Given the description of an element on the screen output the (x, y) to click on. 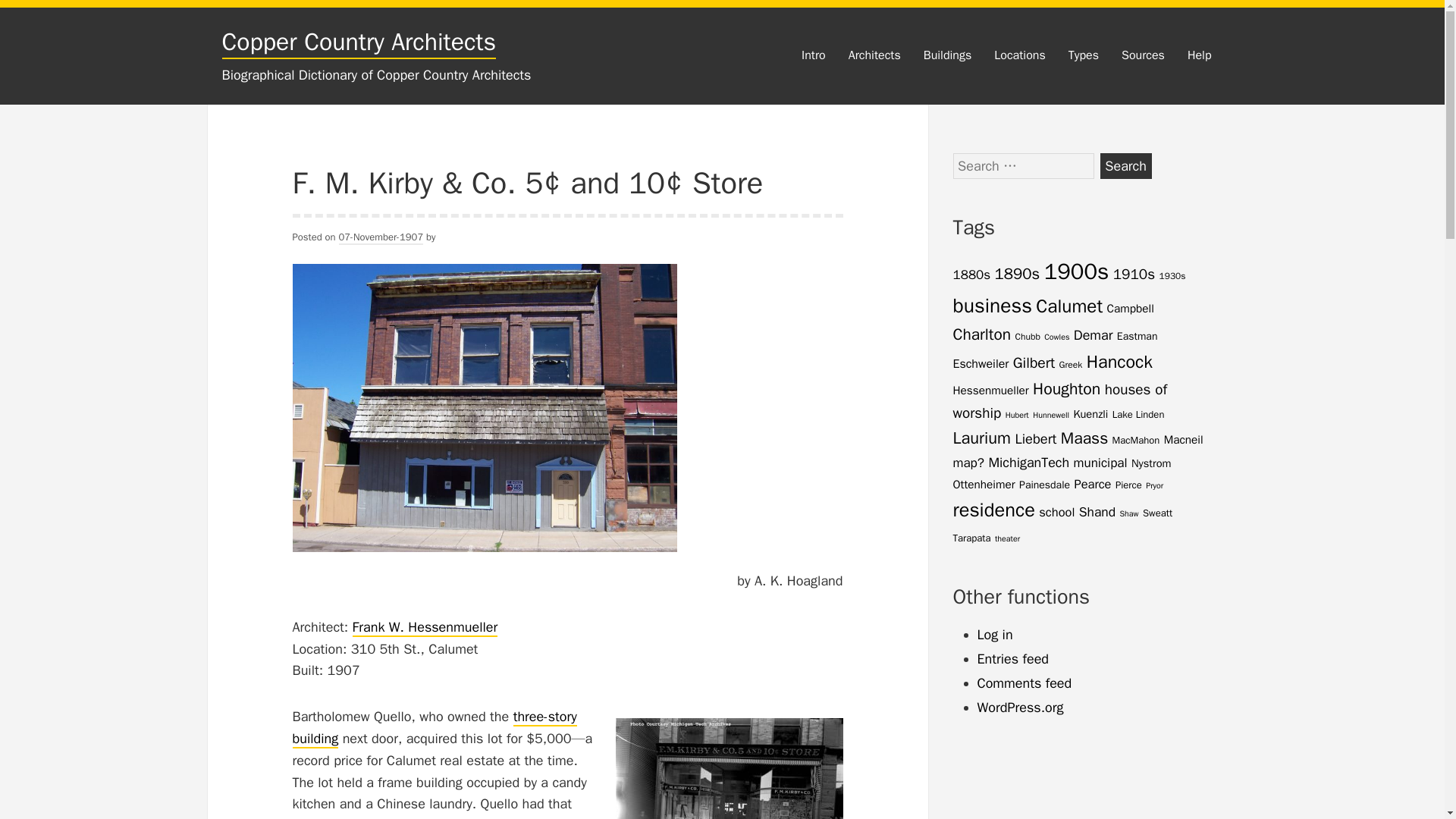
Search (1125, 166)
1930s (1172, 275)
Calumet (1068, 305)
1910s (1133, 274)
Eschweiler (980, 363)
three-story building (434, 728)
07-November-1907 (381, 237)
Architects (874, 55)
Sources (1142, 55)
Search (1125, 166)
1880s (971, 274)
1890s (1017, 273)
Chubb (1027, 336)
1900s (1076, 271)
